Given the description of an element on the screen output the (x, y) to click on. 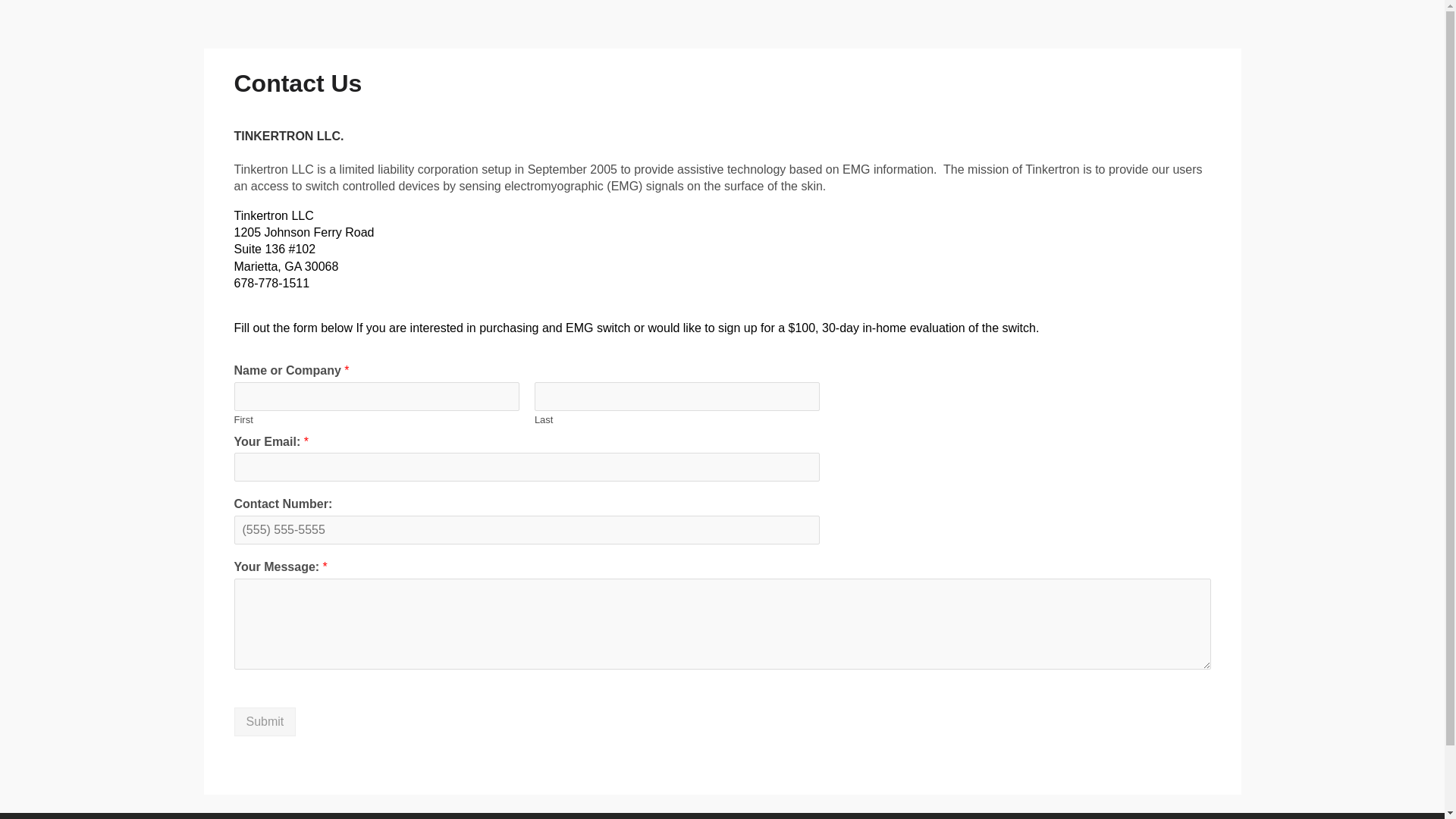
Submit (263, 721)
